Given the description of an element on the screen output the (x, y) to click on. 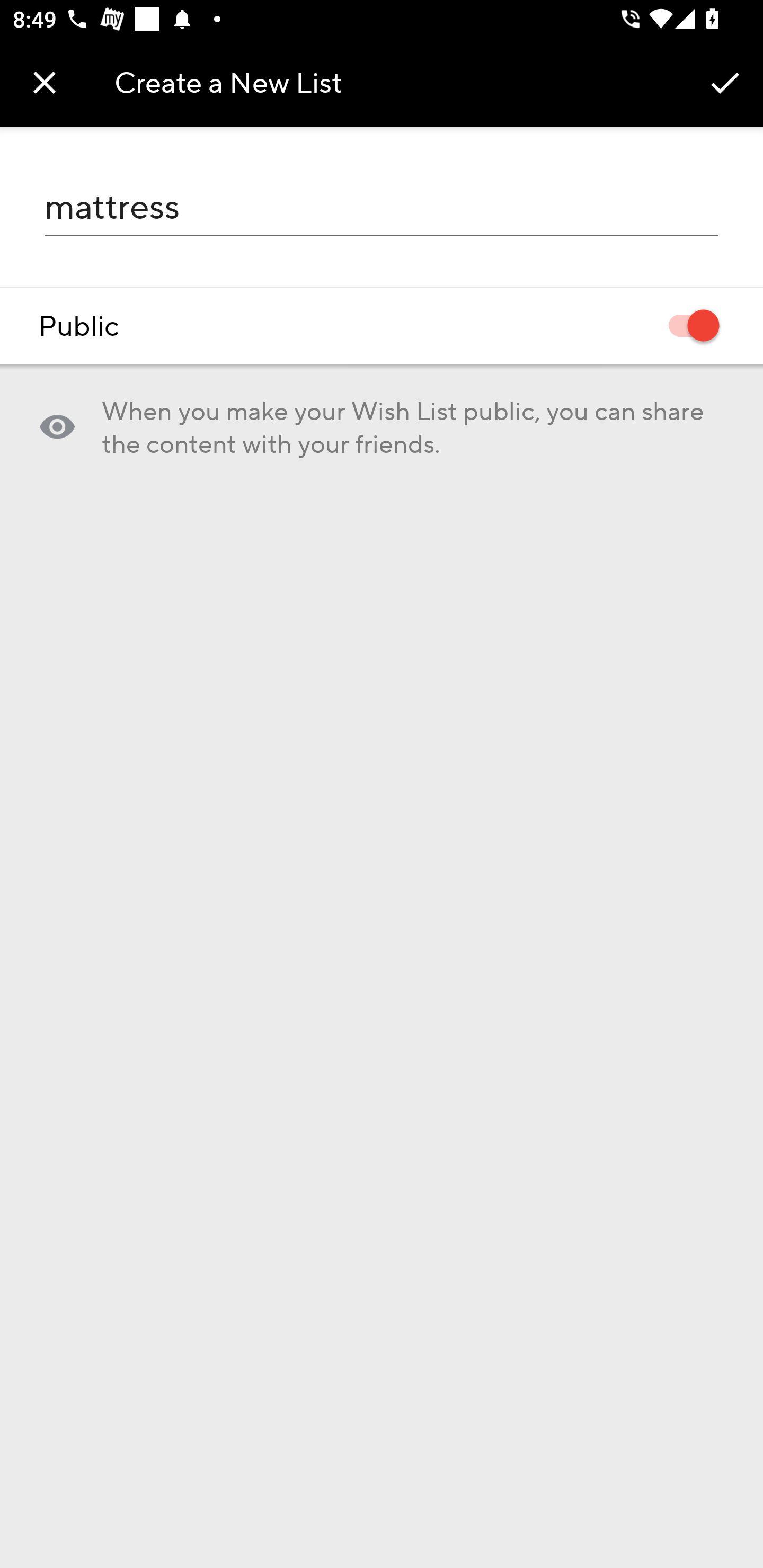
Navigate up (44, 82)
Done (724, 81)
mattress (381, 206)
